Given the description of an element on the screen output the (x, y) to click on. 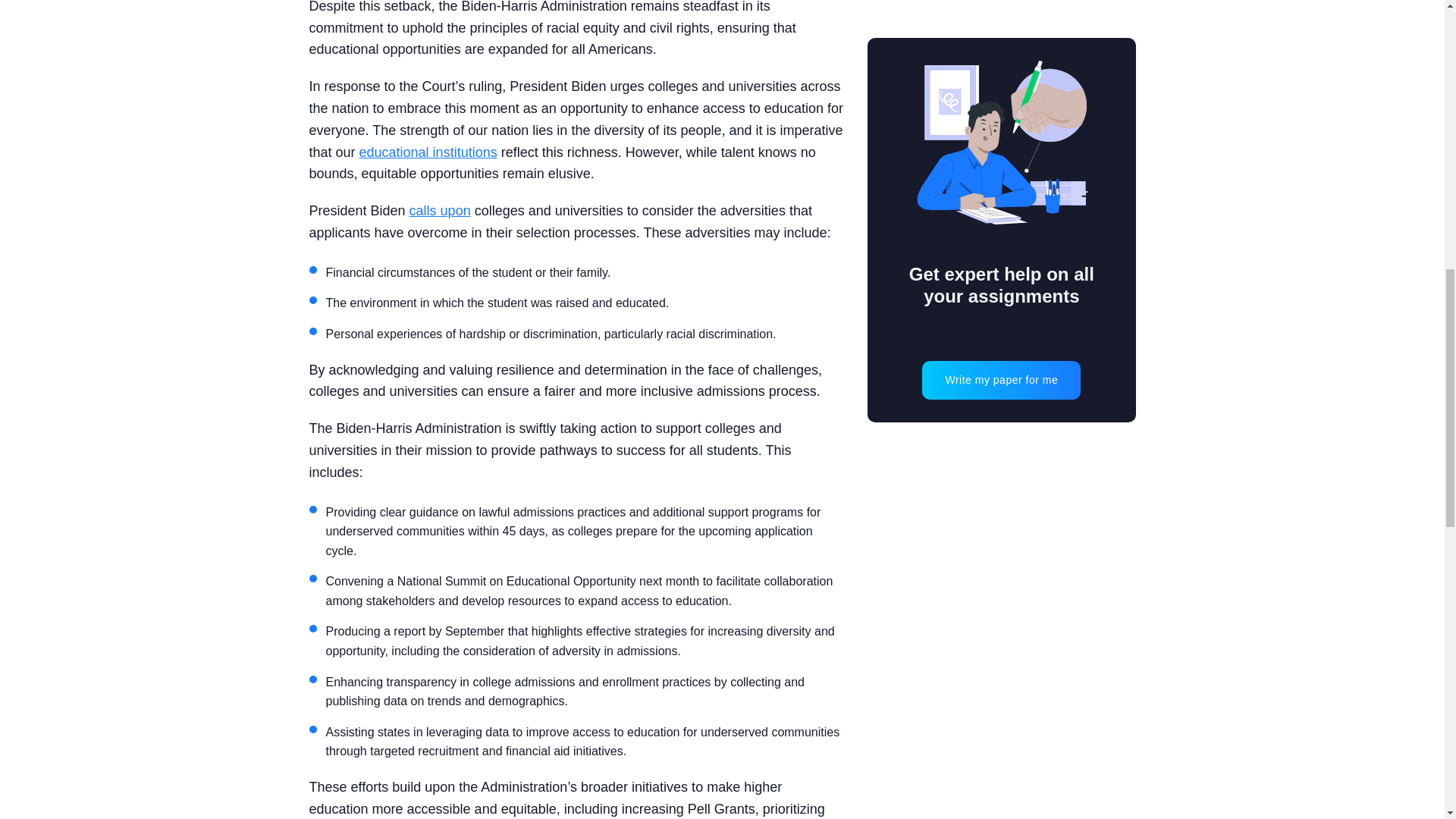
effective strategies (636, 631)
educational institutions (428, 151)
calls upon (439, 210)
student was raised and educated (576, 302)
